Given the description of an element on the screen output the (x, y) to click on. 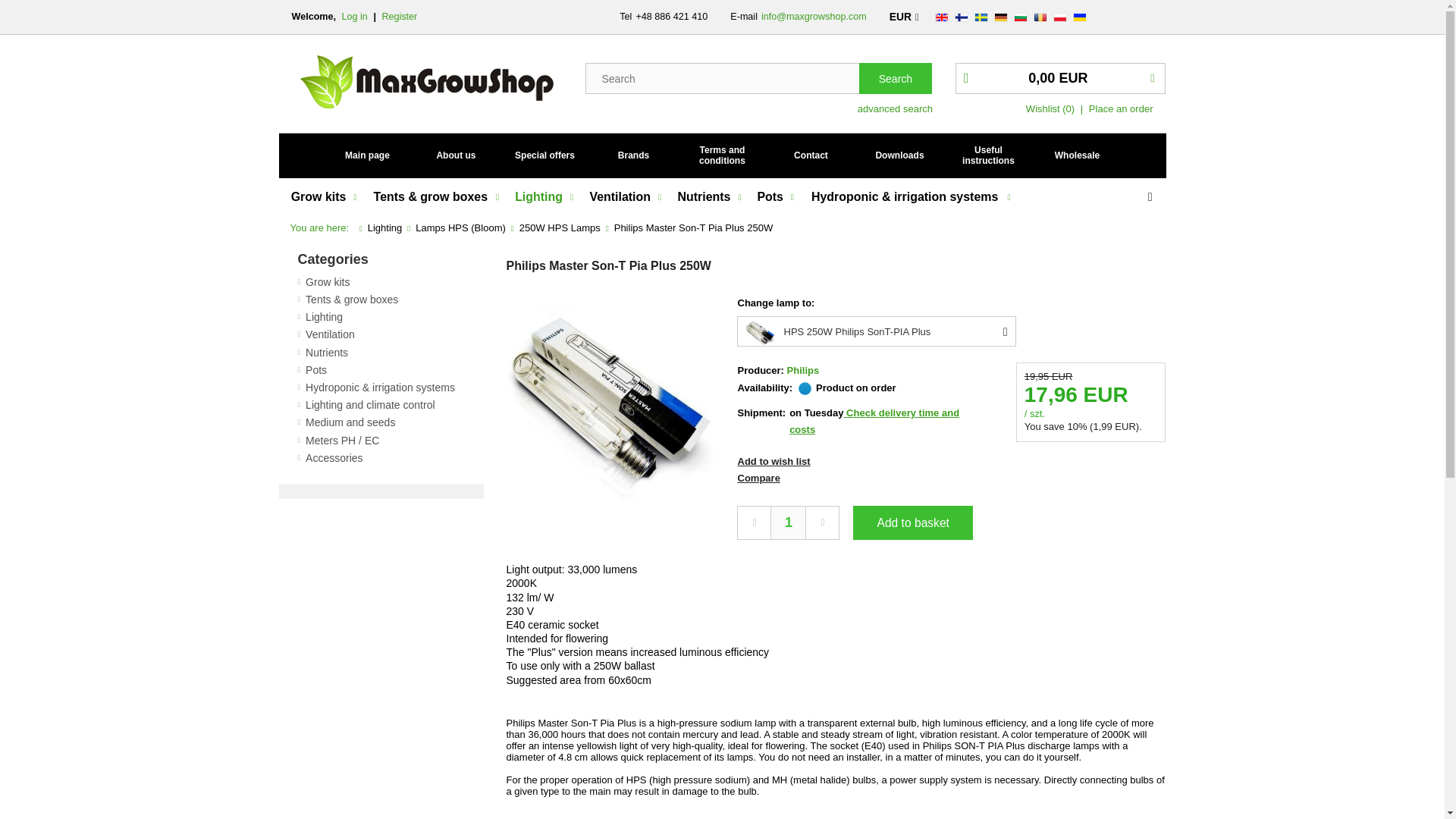
Main page (367, 154)
Register (398, 16)
Downloads (899, 154)
Grow kits (320, 198)
Brands (633, 154)
Special offers (544, 154)
Your rabate: (1050, 108)
1 (788, 522)
0,00 EUR (1060, 78)
